Given the description of an element on the screen output the (x, y) to click on. 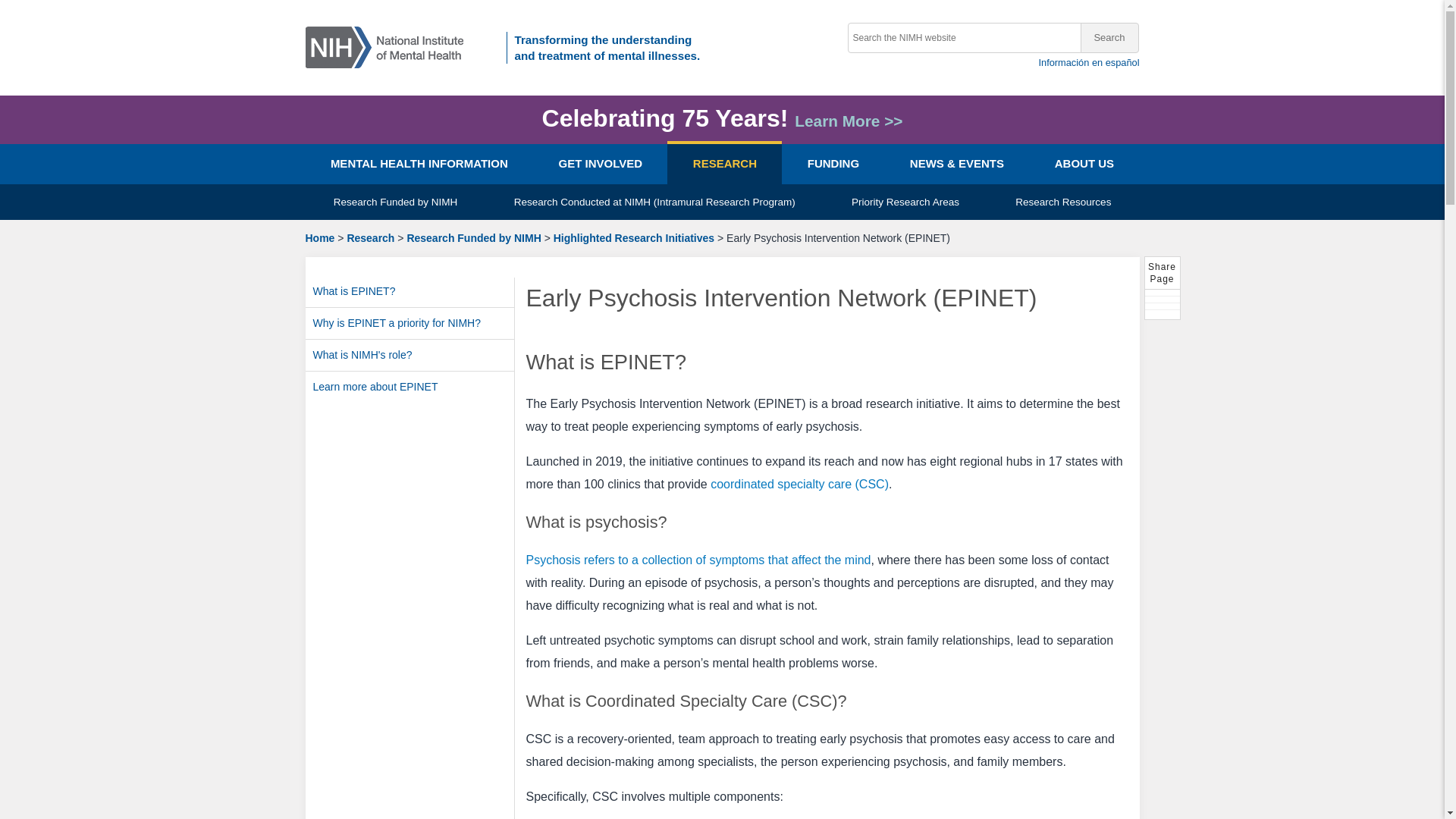
RESEARCH (723, 164)
MENTAL HEALTH INFORMATION (418, 164)
Search (1109, 37)
ABOUT US (1083, 164)
Search (1109, 37)
GET INVOLVED (599, 164)
FUNDING (832, 164)
NIMH Home (389, 46)
